Given the description of an element on the screen output the (x, y) to click on. 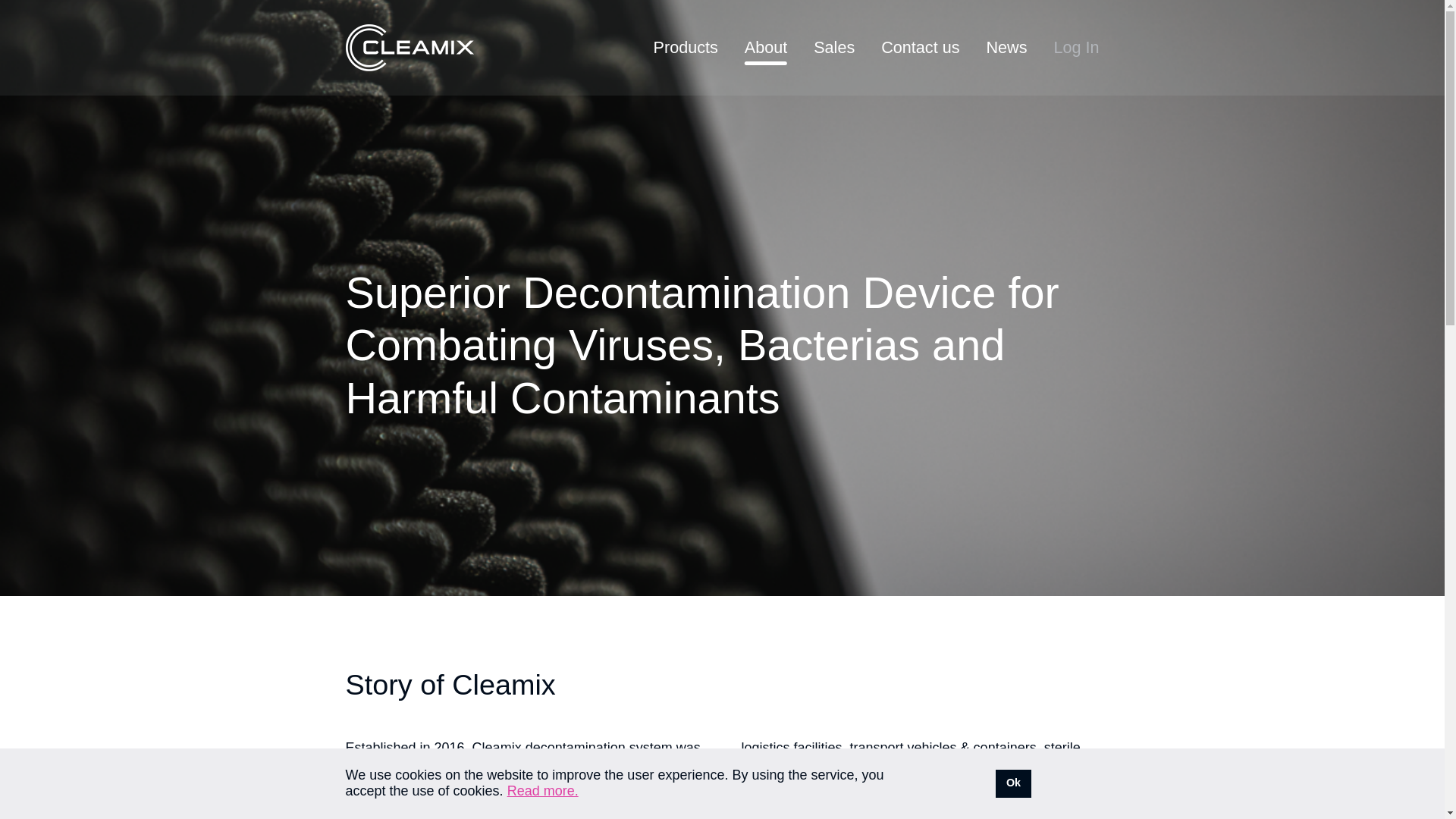
News (1005, 46)
About (765, 46)
Products (685, 46)
Contact us (919, 46)
Sales (833, 46)
Log In (1075, 46)
Read more. (542, 790)
